Given the description of an element on the screen output the (x, y) to click on. 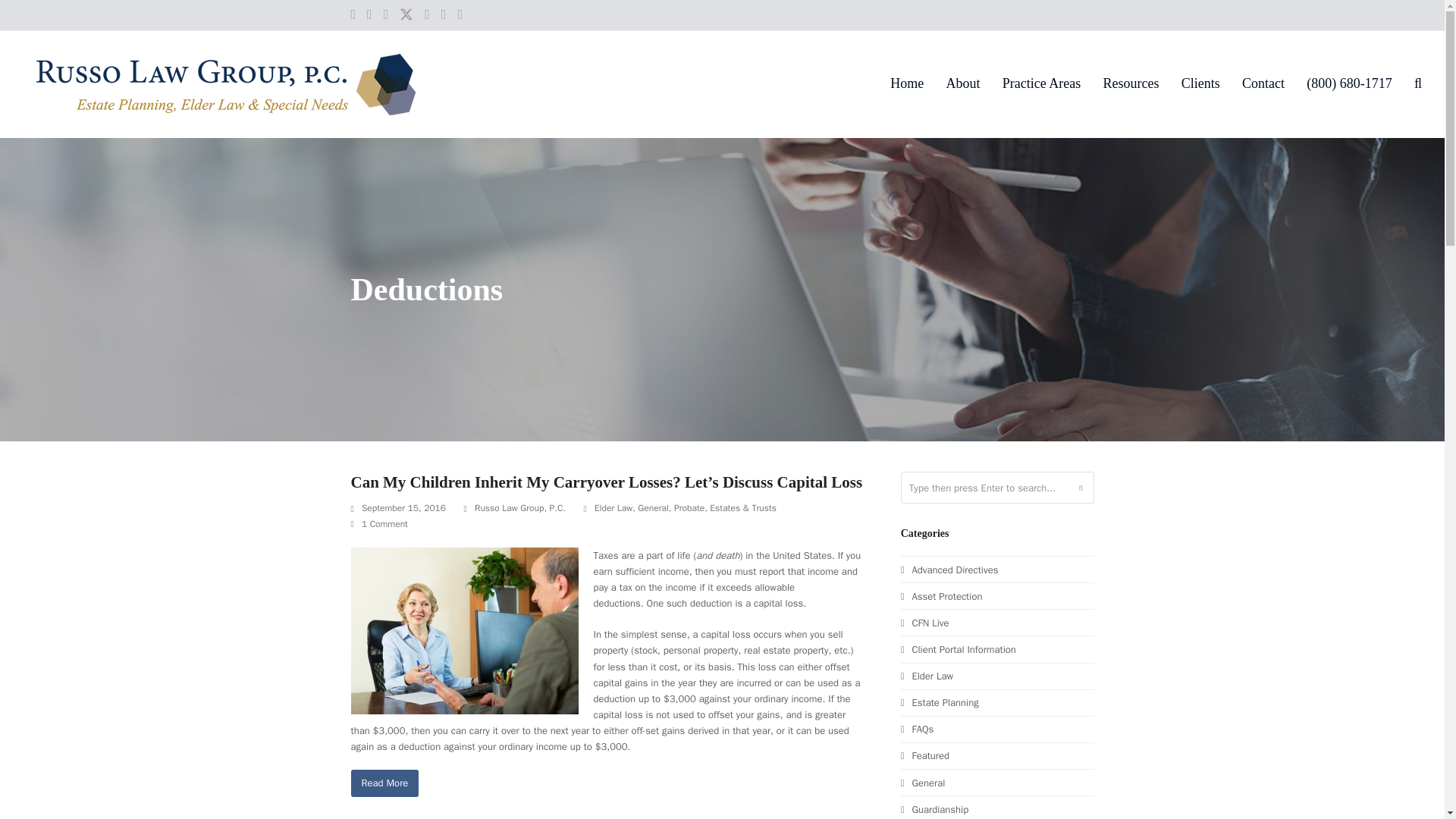
About (962, 85)
Practice Areas (1041, 85)
1 Comment (378, 524)
Posts by Russo Law Group, P.C. (520, 508)
